Given the description of an element on the screen output the (x, y) to click on. 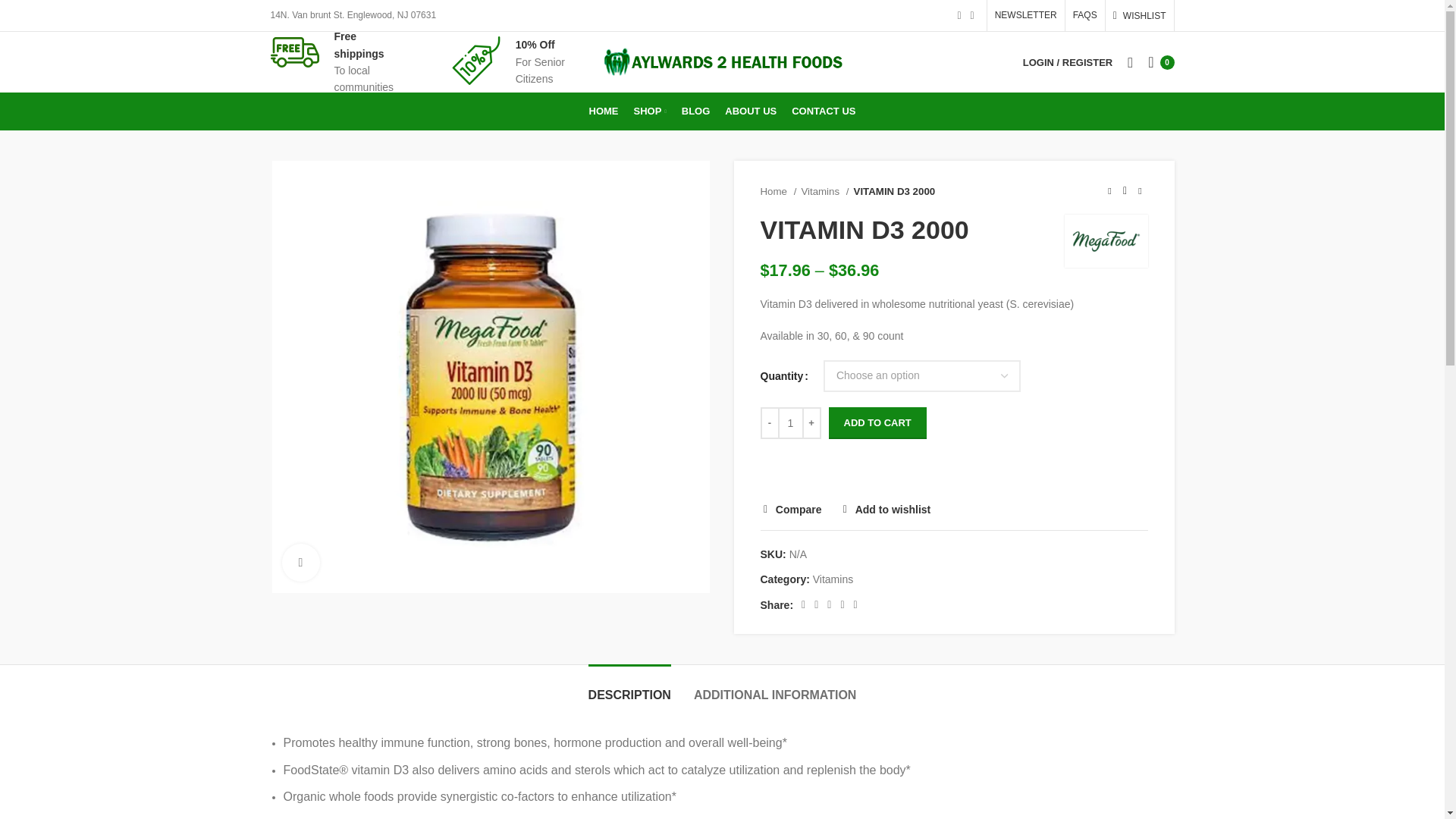
SHOP (650, 111)
FAQS (1085, 15)
0 (1160, 61)
My Wishlist (1139, 15)
PayPal (953, 478)
Shopping cart (1160, 61)
NEWSLETTER (1025, 15)
1 (790, 422)
- (769, 422)
HOME (603, 111)
Qty (790, 422)
My account (1066, 61)
Mega Food (1105, 241)
WISHLIST (1139, 15)
